Given the description of an element on the screen output the (x, y) to click on. 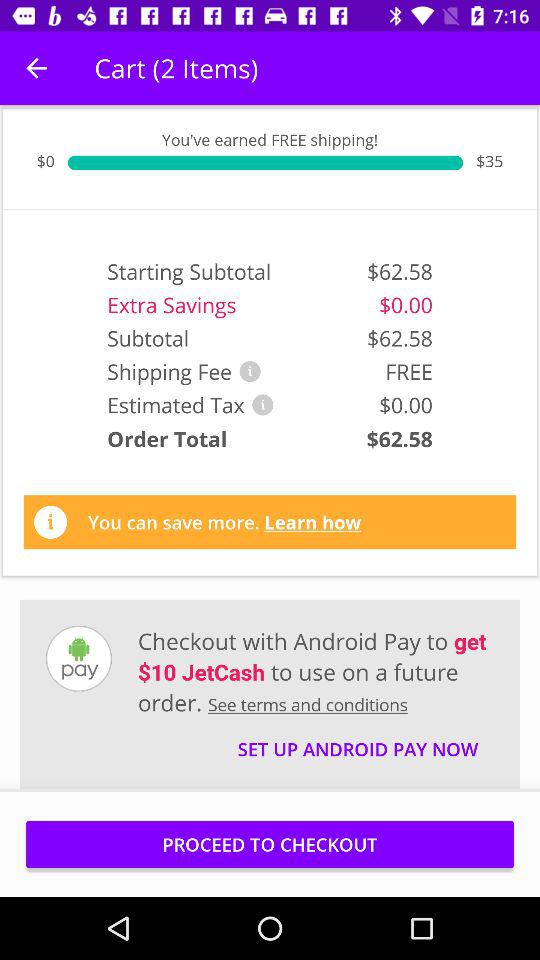
launch the set up android (357, 740)
